Given the description of an element on the screen output the (x, y) to click on. 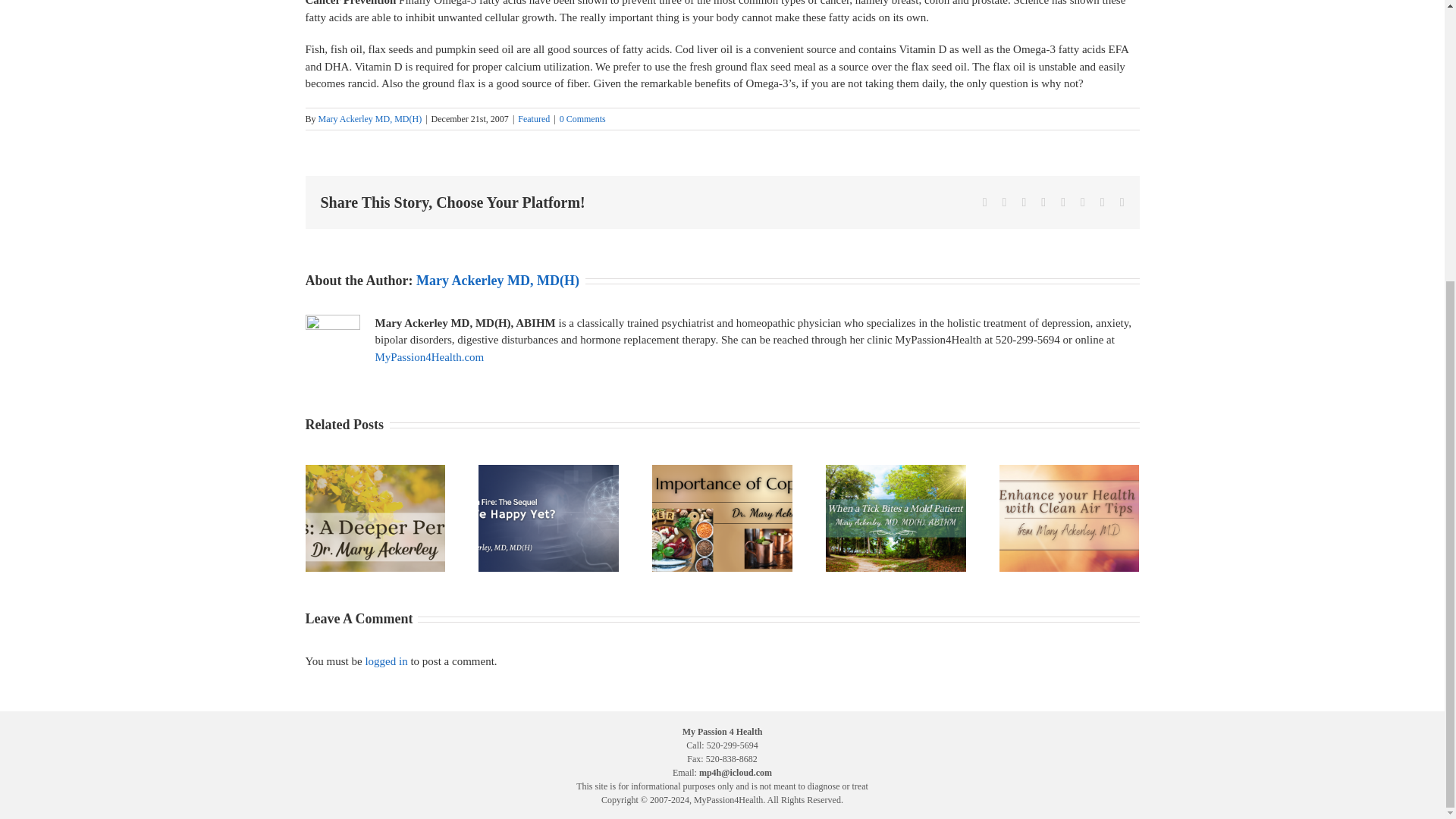
Featured (534, 118)
0 Comments (582, 118)
